Given the description of an element on the screen output the (x, y) to click on. 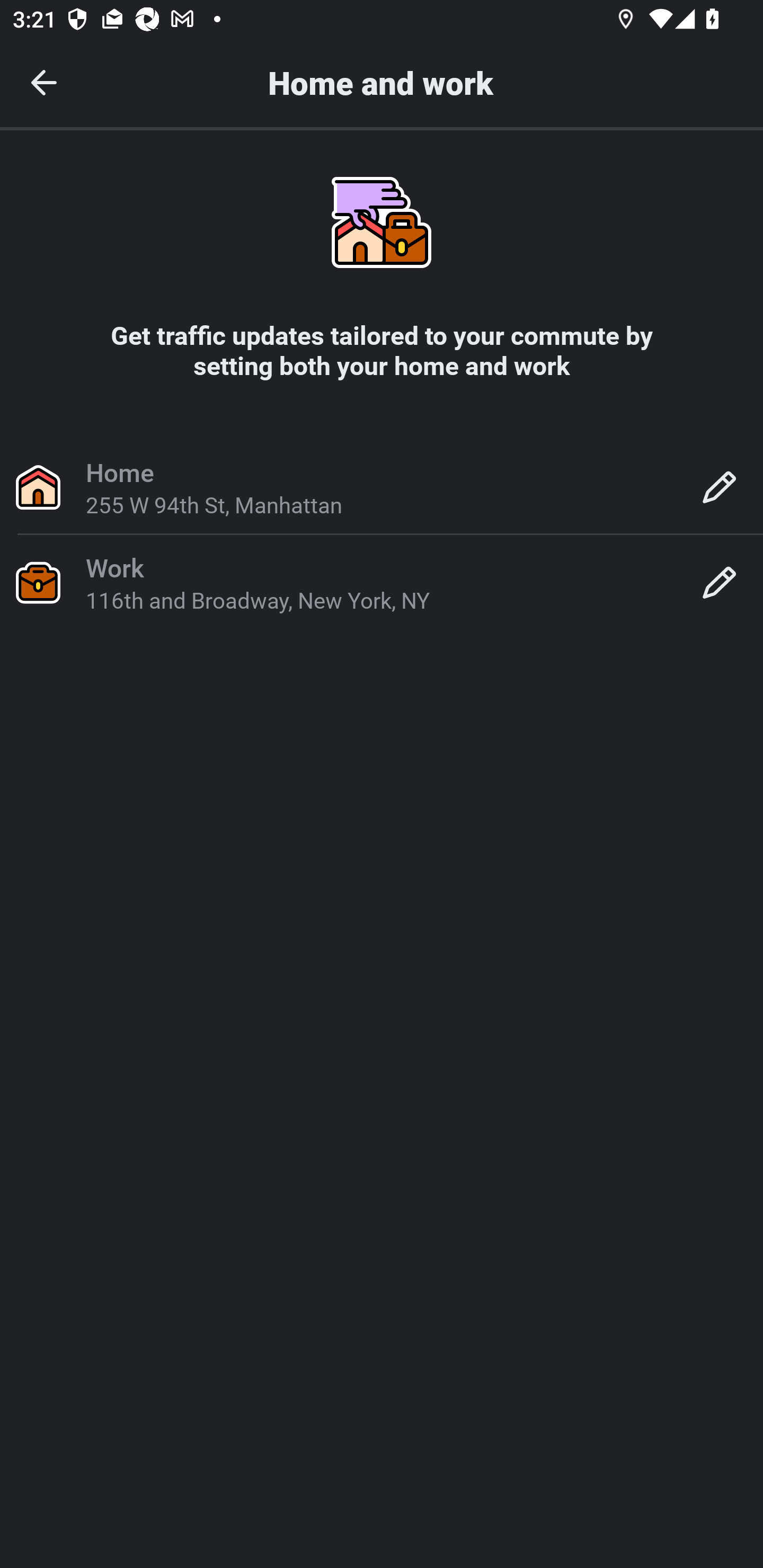
Home 255 W 94th St, Manhattan (381, 486)
Work 116th and Broadway, New York, NY (381, 582)
